Given the description of an element on the screen output the (x, y) to click on. 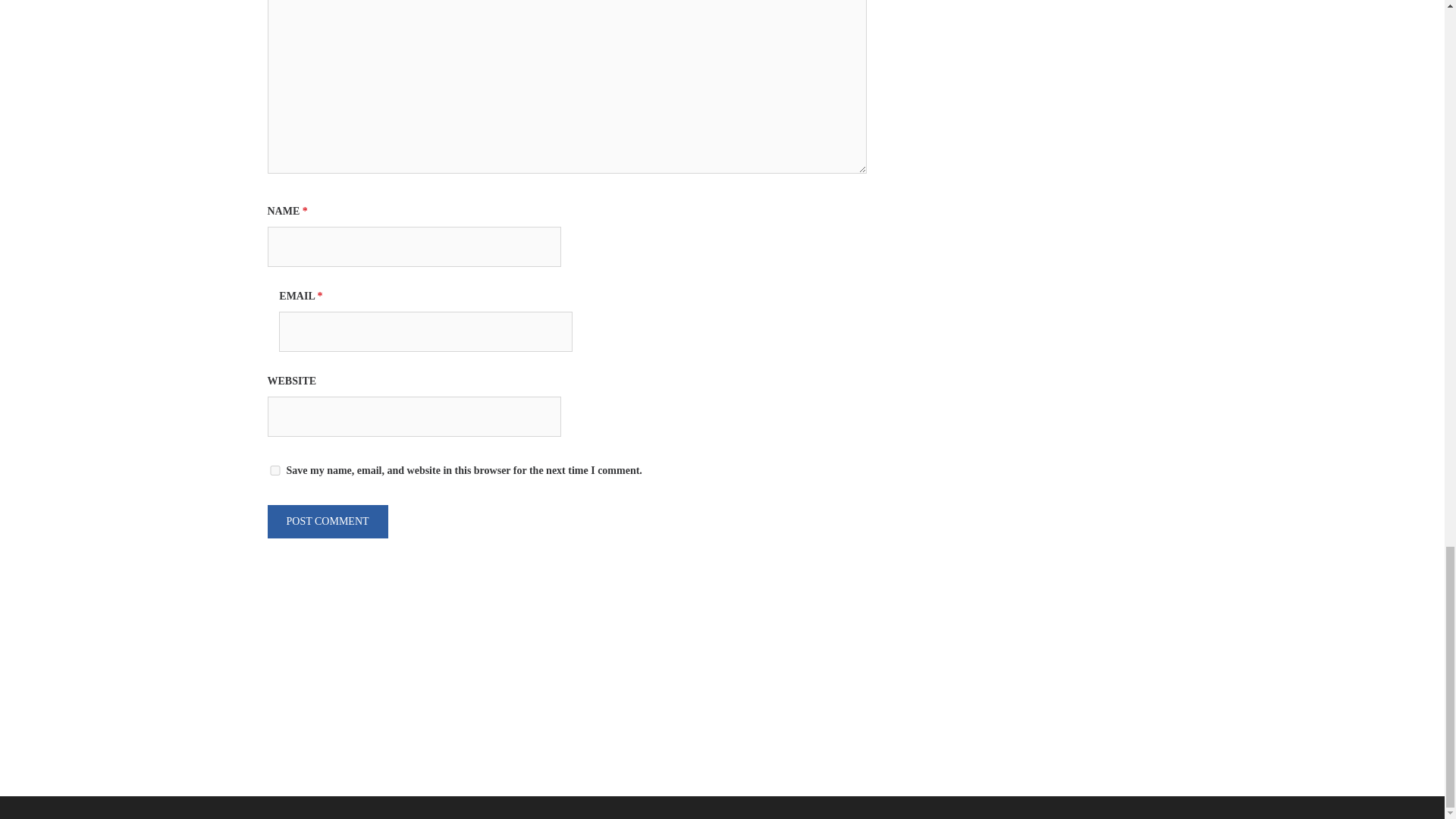
Post Comment (326, 521)
yes (274, 470)
Post Comment (326, 521)
